Given the description of an element on the screen output the (x, y) to click on. 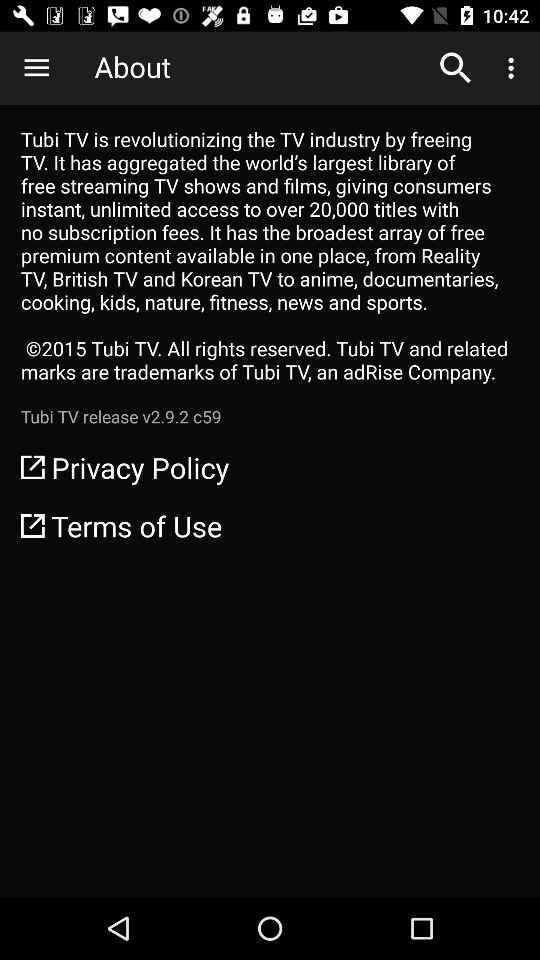
turn off the item next to about item (455, 67)
